Given the description of an element on the screen output the (x, y) to click on. 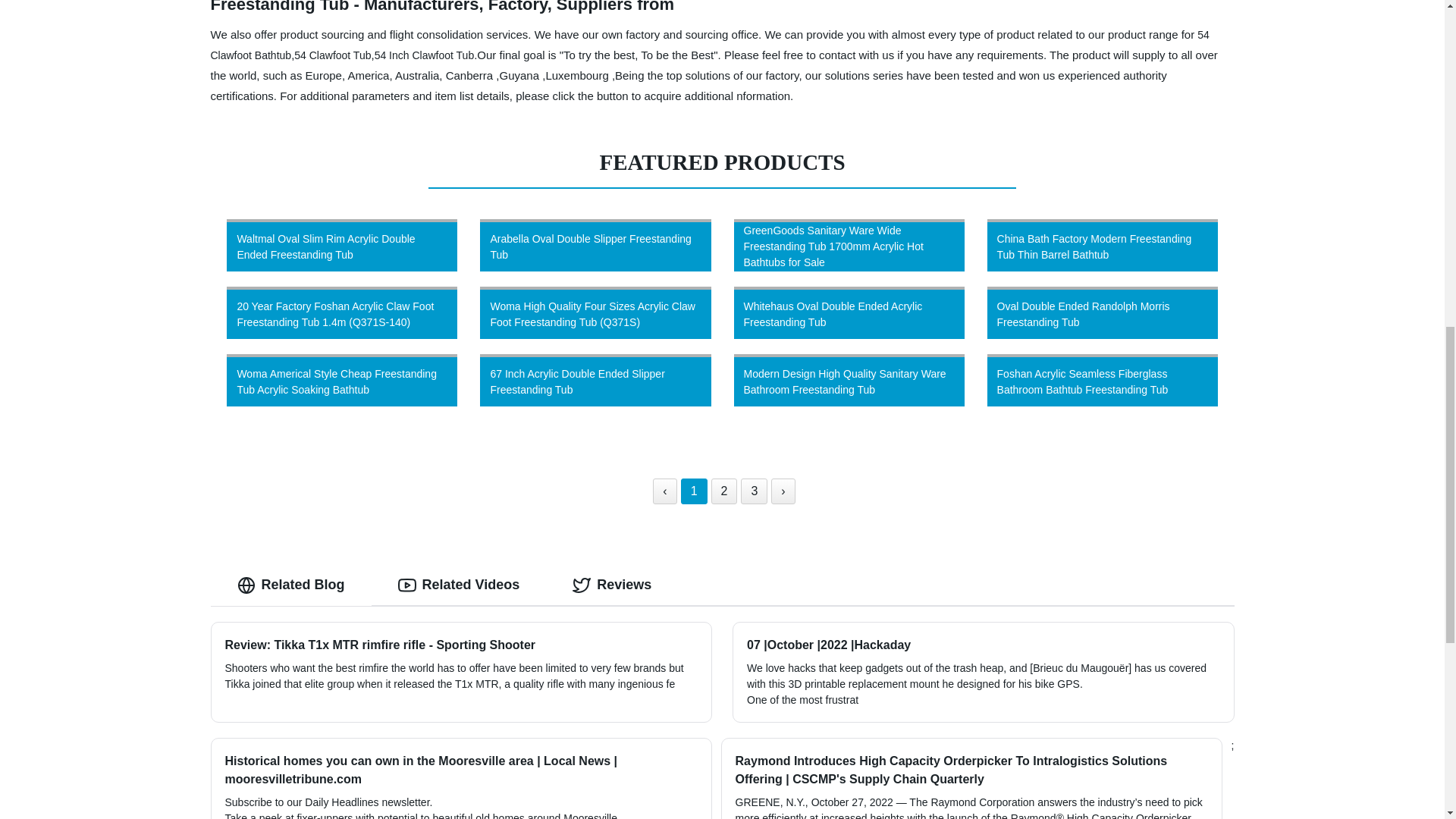
54 Clawfoot Bathtub (710, 44)
Waltmal Oval Slim Rim Acrylic Double Ended Freestanding Tub (341, 245)
54 Inch Clawfoot Tub (424, 54)
54 Clawfoot Bathtub (710, 44)
54 Inch Clawfoot Tub (424, 54)
Arabella Oval Double Slipper Freestanding Tub (595, 245)
54 Clawfoot Tub (332, 54)
54 Clawfoot Tub (332, 54)
